Given the description of an element on the screen output the (x, y) to click on. 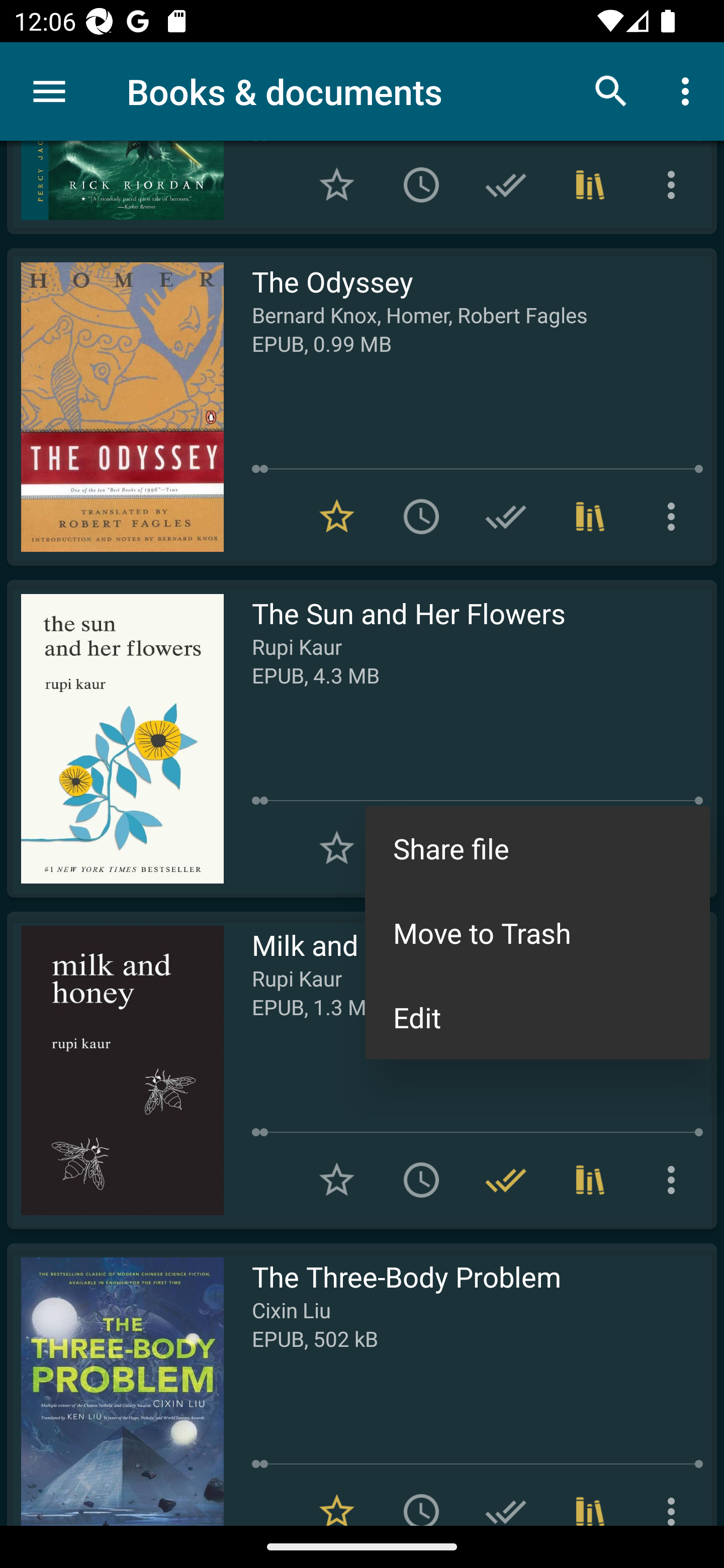
Share file (537, 847)
Move to Trash (537, 932)
Edit (537, 1017)
